Given the description of an element on the screen output the (x, y) to click on. 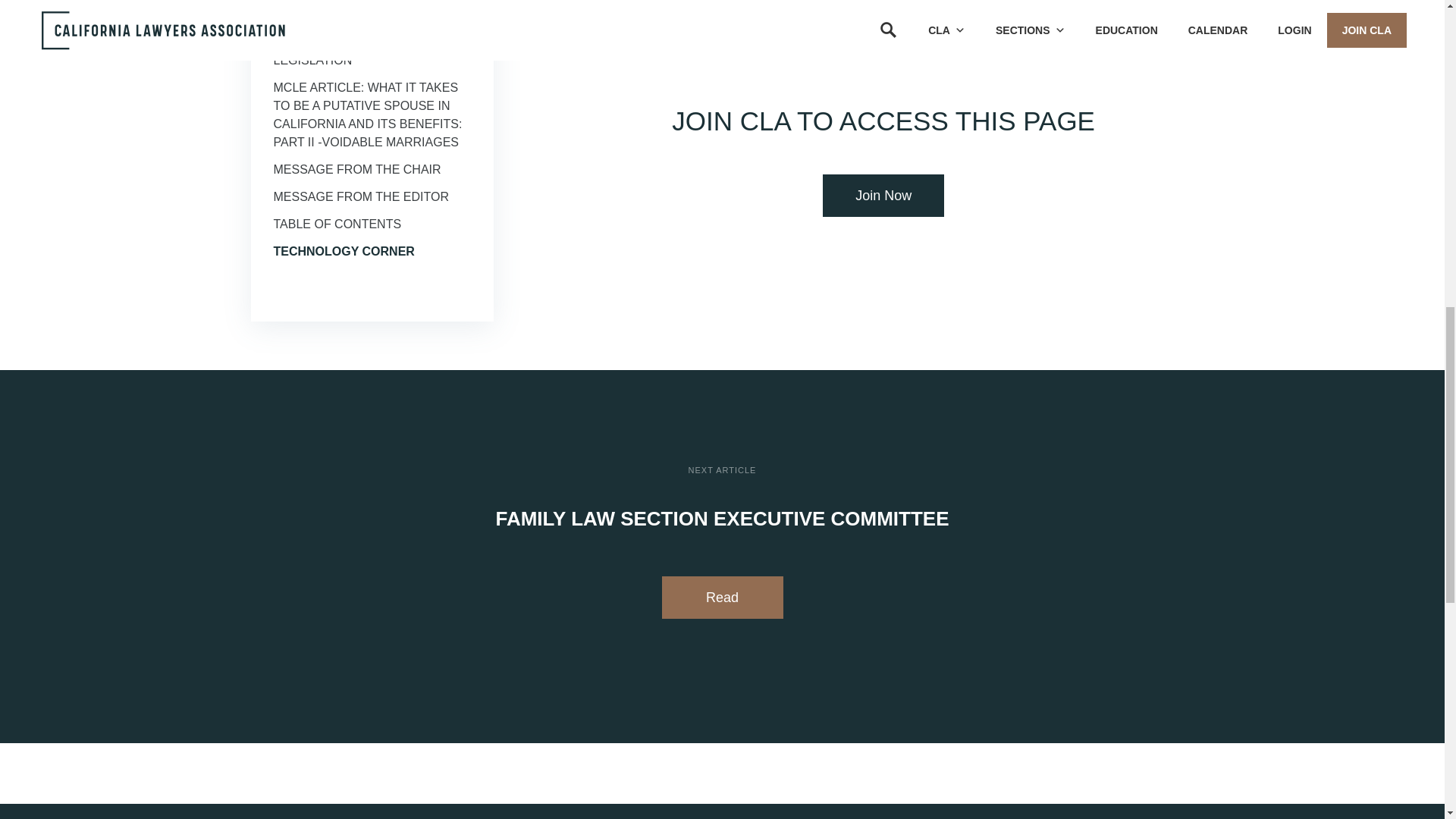
Table of Contents (337, 223)
Technology Corner (343, 250)
Read: Family Law Section Executive Committee (722, 597)
Join Now (882, 195)
Family Law Section Executive Committee (345, 1)
Message from the Editor (360, 196)
Message from the Chair (357, 169)
